Given the description of an element on the screen output the (x, y) to click on. 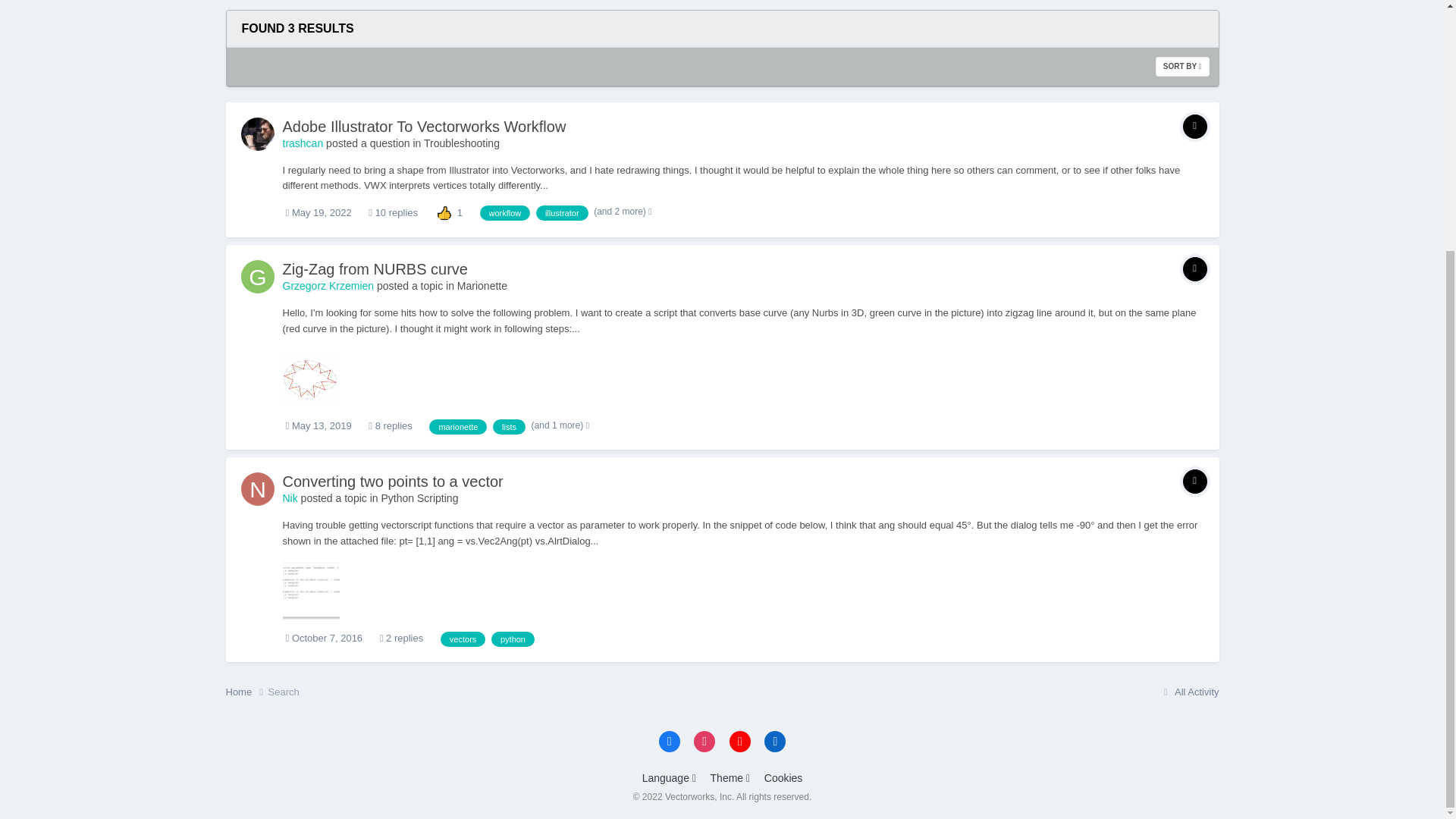
Go to trashcan's profile (258, 133)
Topic (1194, 269)
Like (443, 211)
Find other content tagged with 'marionette' (457, 426)
Go to Grzegorz Krzemien's profile (328, 285)
Topic (1194, 126)
Go to Grzegorz Krzemien's profile (258, 276)
Find other content tagged with 'illustrator' (561, 212)
Find other content tagged with 'workflow' (504, 212)
Go to trashcan's profile (302, 143)
